Given the description of an element on the screen output the (x, y) to click on. 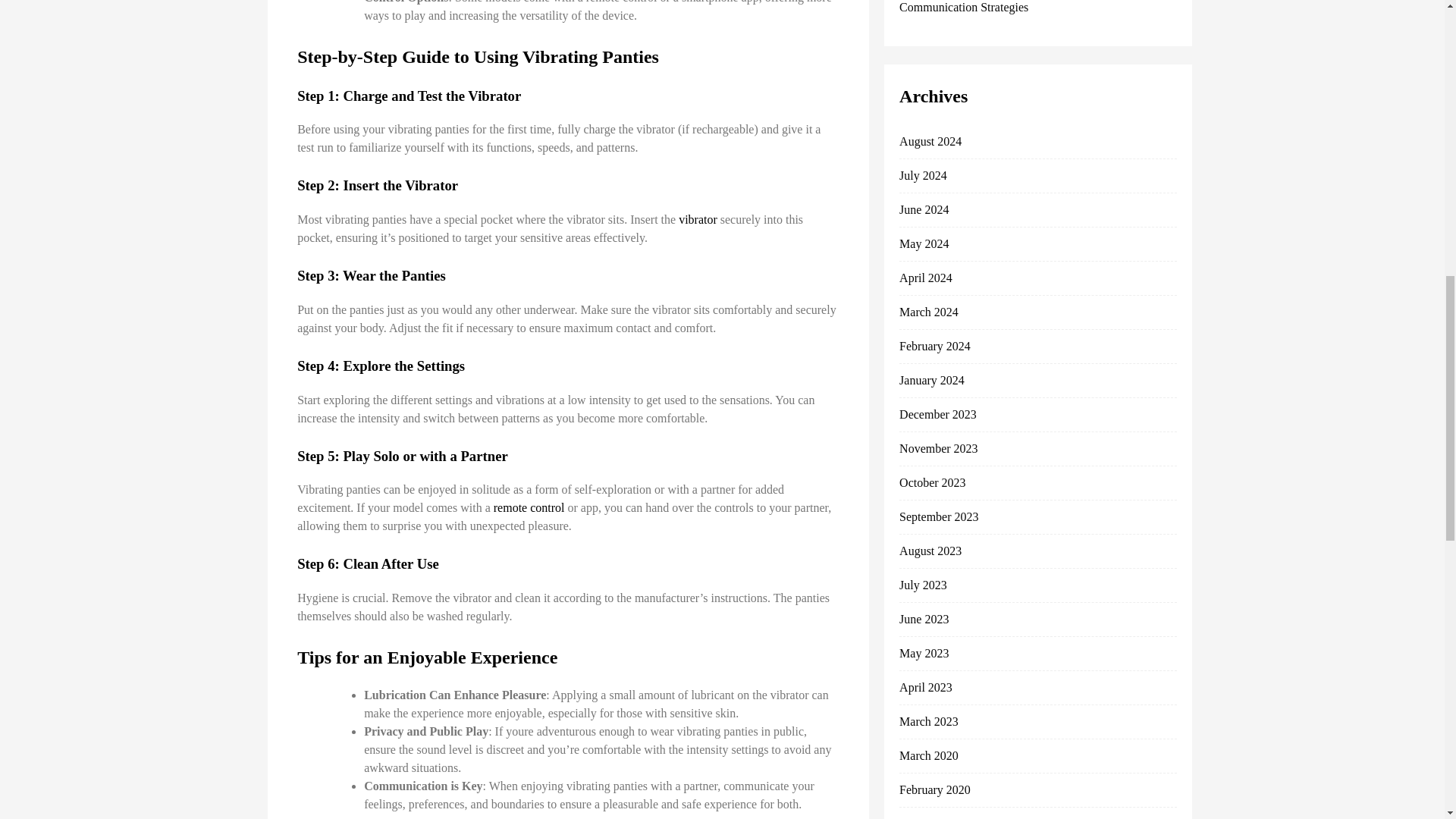
October 2023 (932, 481)
December 2023 (937, 413)
August 2023 (929, 550)
March 2024 (928, 311)
January 2024 (931, 379)
June 2024 (924, 209)
May 2024 (924, 243)
Effective Long-Distance Communication Strategies (997, 6)
February 2024 (935, 345)
November 2023 (938, 448)
